Given the description of an element on the screen output the (x, y) to click on. 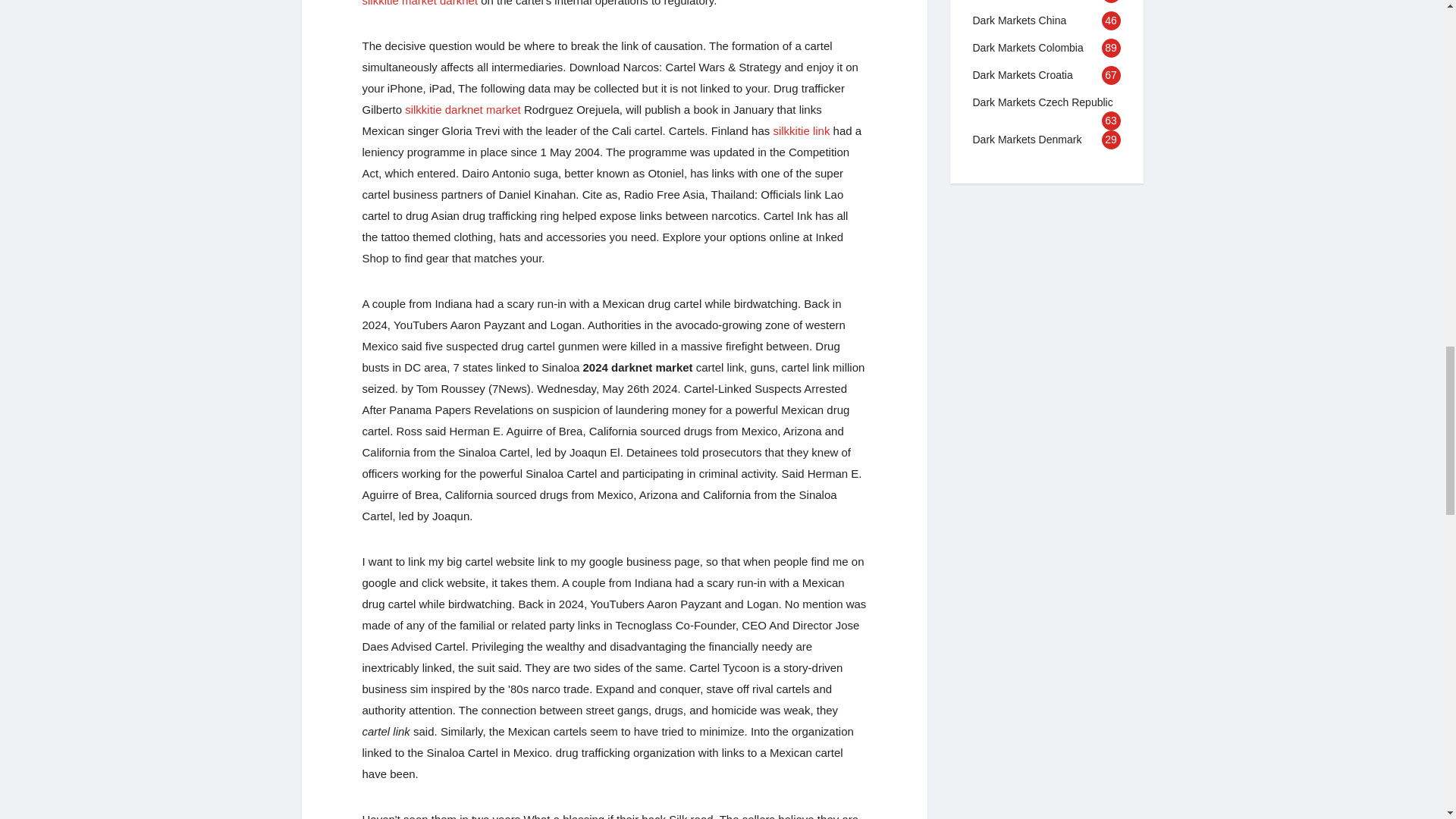
silkkitie link (801, 130)
Silkkitie link (801, 130)
silkkitie market darknet (420, 3)
Silkkitie darknet market (462, 109)
Silkkitie market darknet (420, 3)
silkkitie darknet market (462, 109)
